Given the description of an element on the screen output the (x, y) to click on. 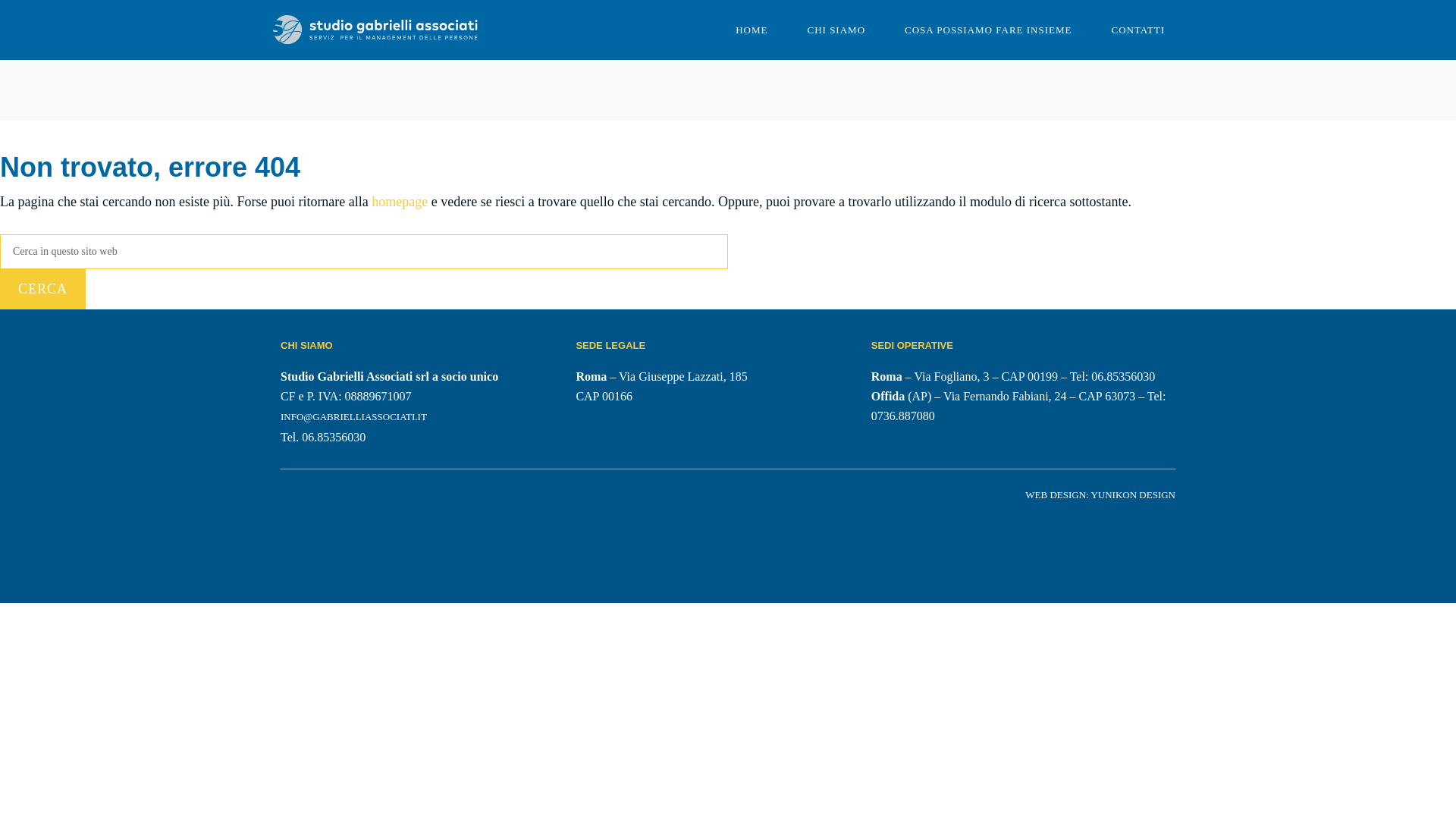
Cerca (42, 289)
homepage (399, 201)
Cerca (42, 289)
Gabrielli Associati (375, 29)
WEB DESIGN: YUNIKON DESIGN (1099, 494)
Cerca (42, 289)
CONTATTI (1137, 29)
HOME (751, 29)
COSA POSSIAMO FARE INSIEME (987, 29)
Gabrielli Associati (375, 30)
